Given the description of an element on the screen output the (x, y) to click on. 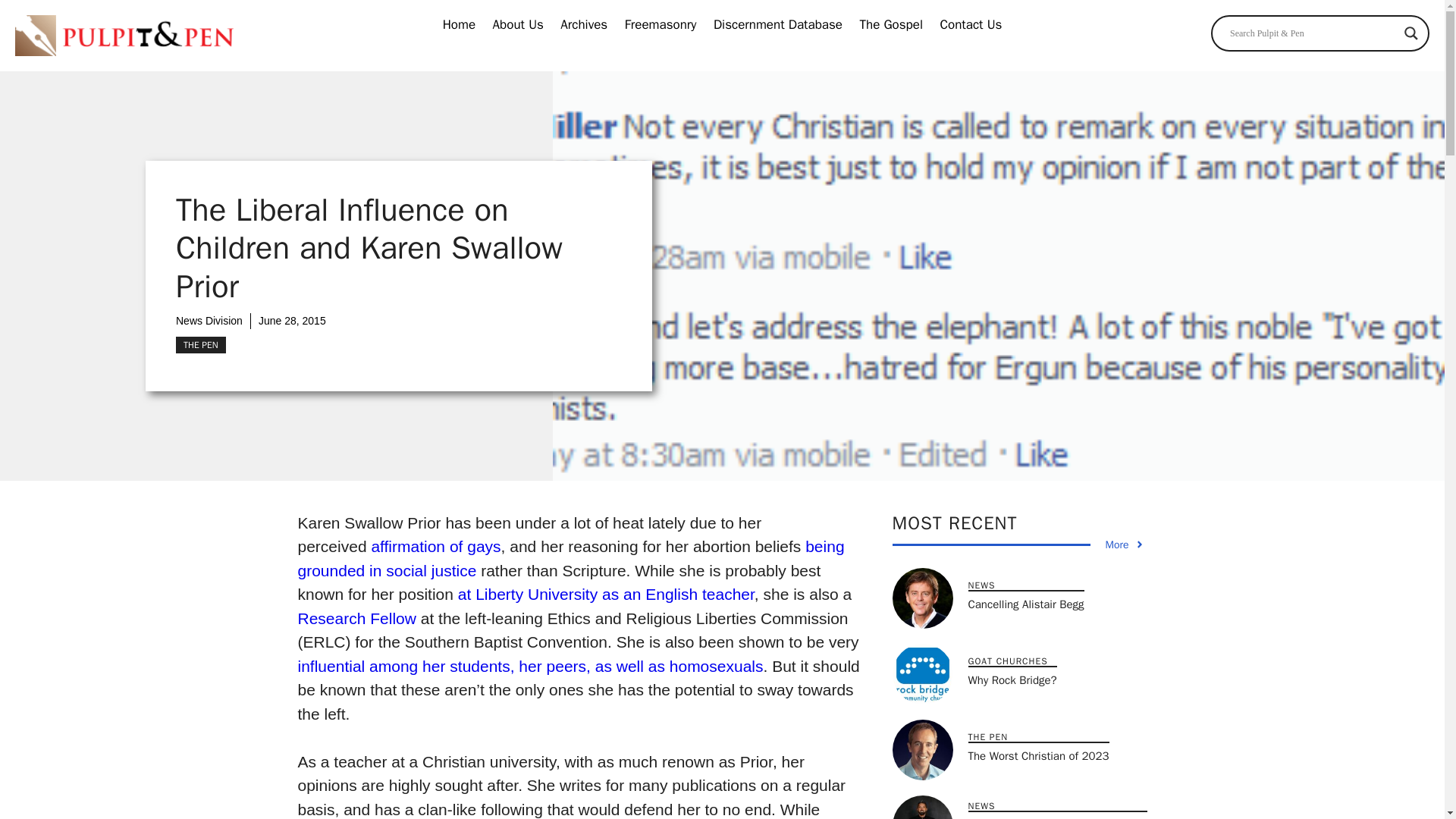
Archives (583, 25)
at Liberty University as an English teacher (606, 593)
News Division (209, 320)
Discernment Database (777, 25)
THE PEN (200, 344)
pplogo-3 (123, 35)
Contact Us (970, 25)
Freemasonry (660, 25)
The Gospel (890, 25)
being grounded in social justice (570, 558)
About Us (517, 25)
affirmation of gays (435, 546)
Research Fellow (355, 618)
Home (459, 25)
